Given the description of an element on the screen output the (x, y) to click on. 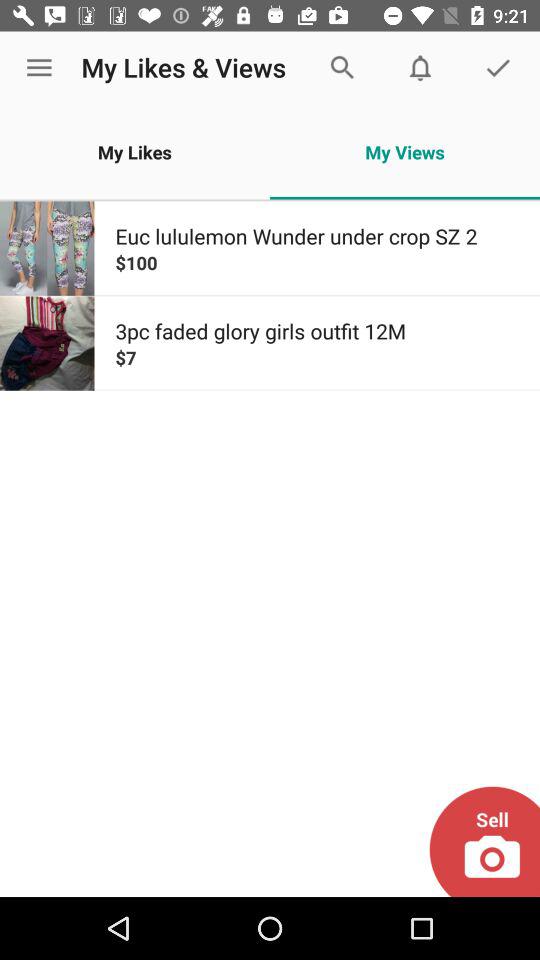
capture the image to sell product open camera for taking image of selling product (484, 841)
